Given the description of an element on the screen output the (x, y) to click on. 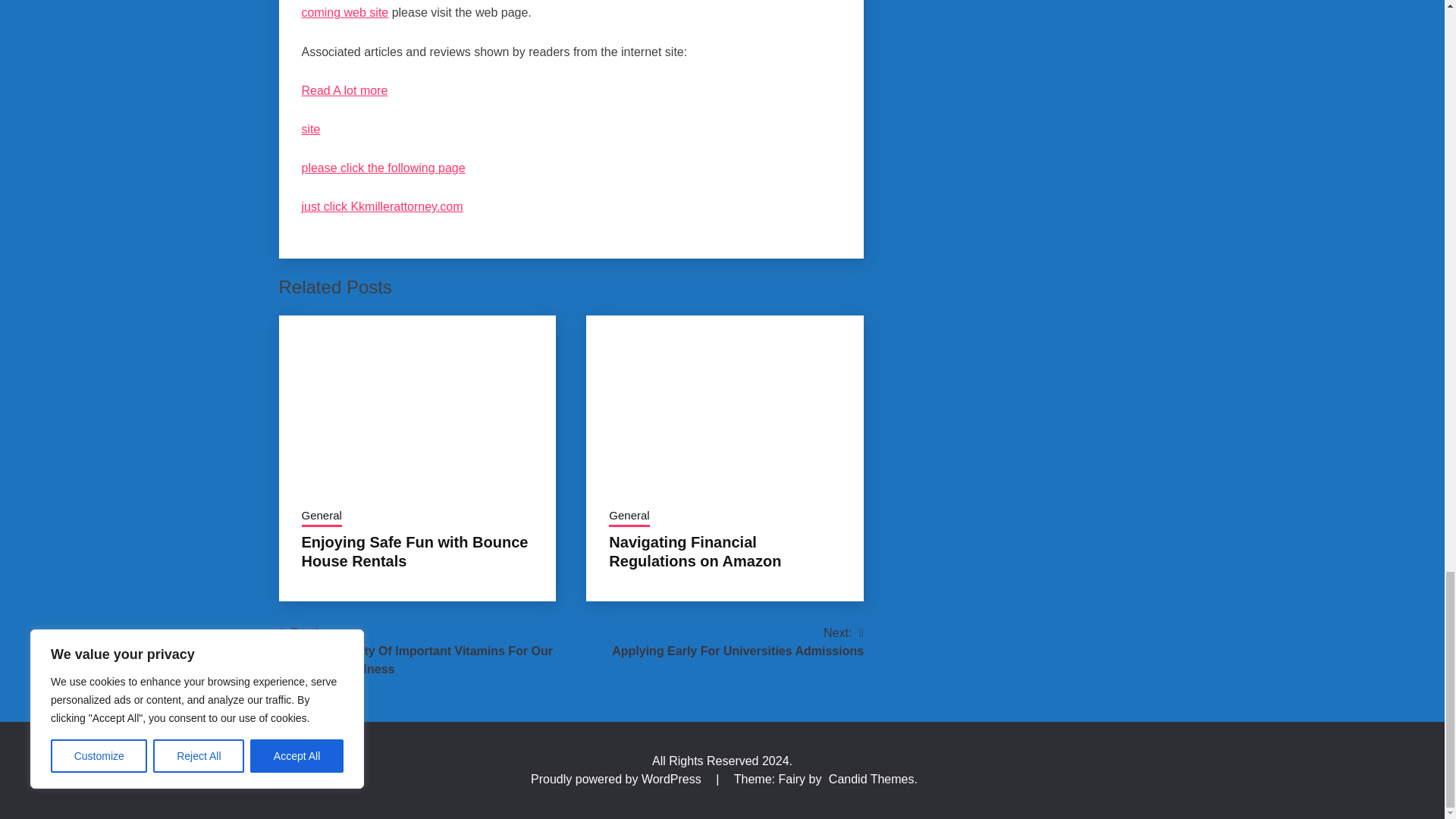
Read A lot more (344, 90)
please click the following page (383, 167)
just click Kkmillerattorney.com (382, 205)
site (310, 128)
click through the up coming web site (557, 9)
General (321, 516)
